Given the description of an element on the screen output the (x, y) to click on. 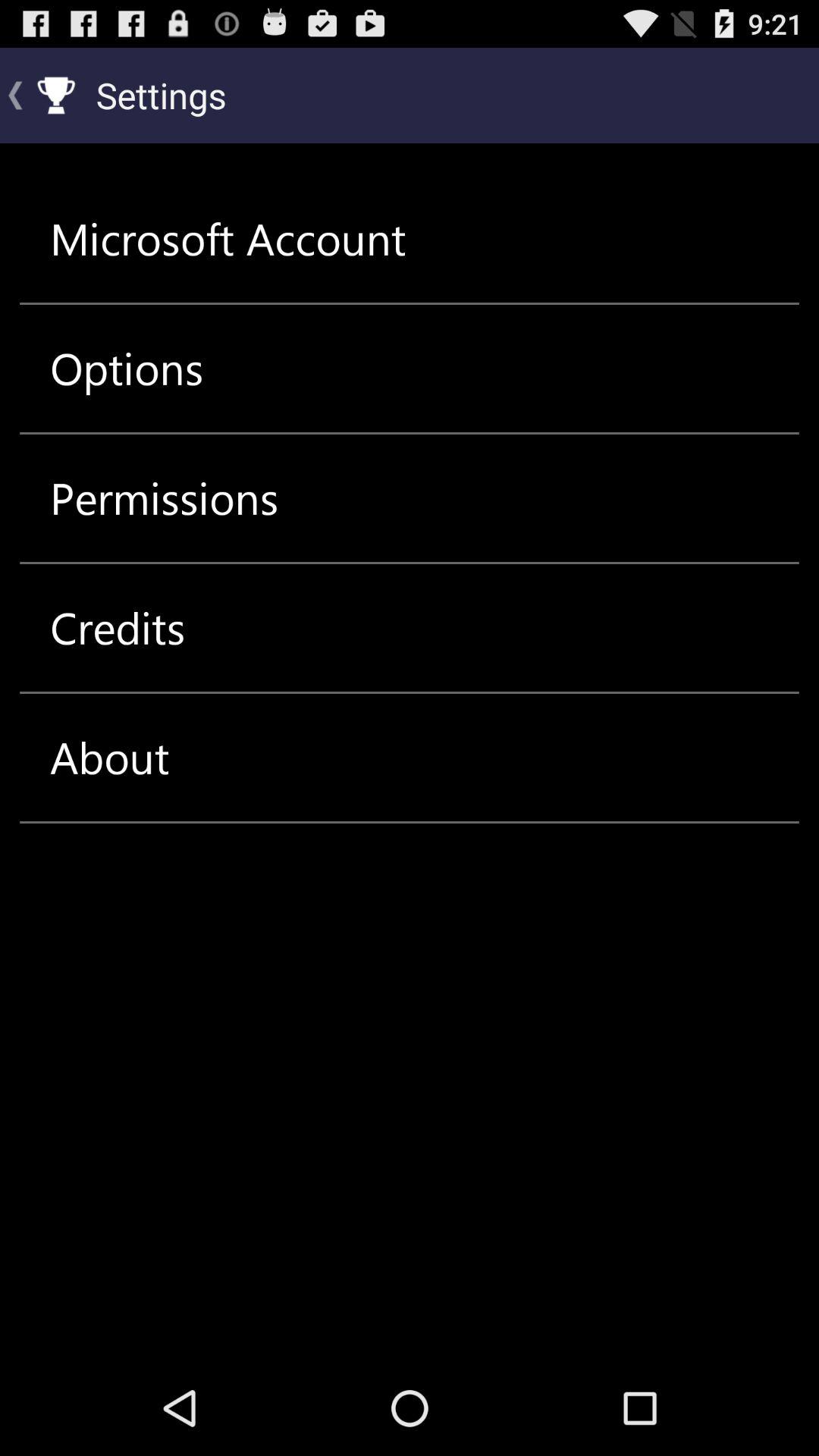
open item below the microsoft account (126, 368)
